Given the description of an element on the screen output the (x, y) to click on. 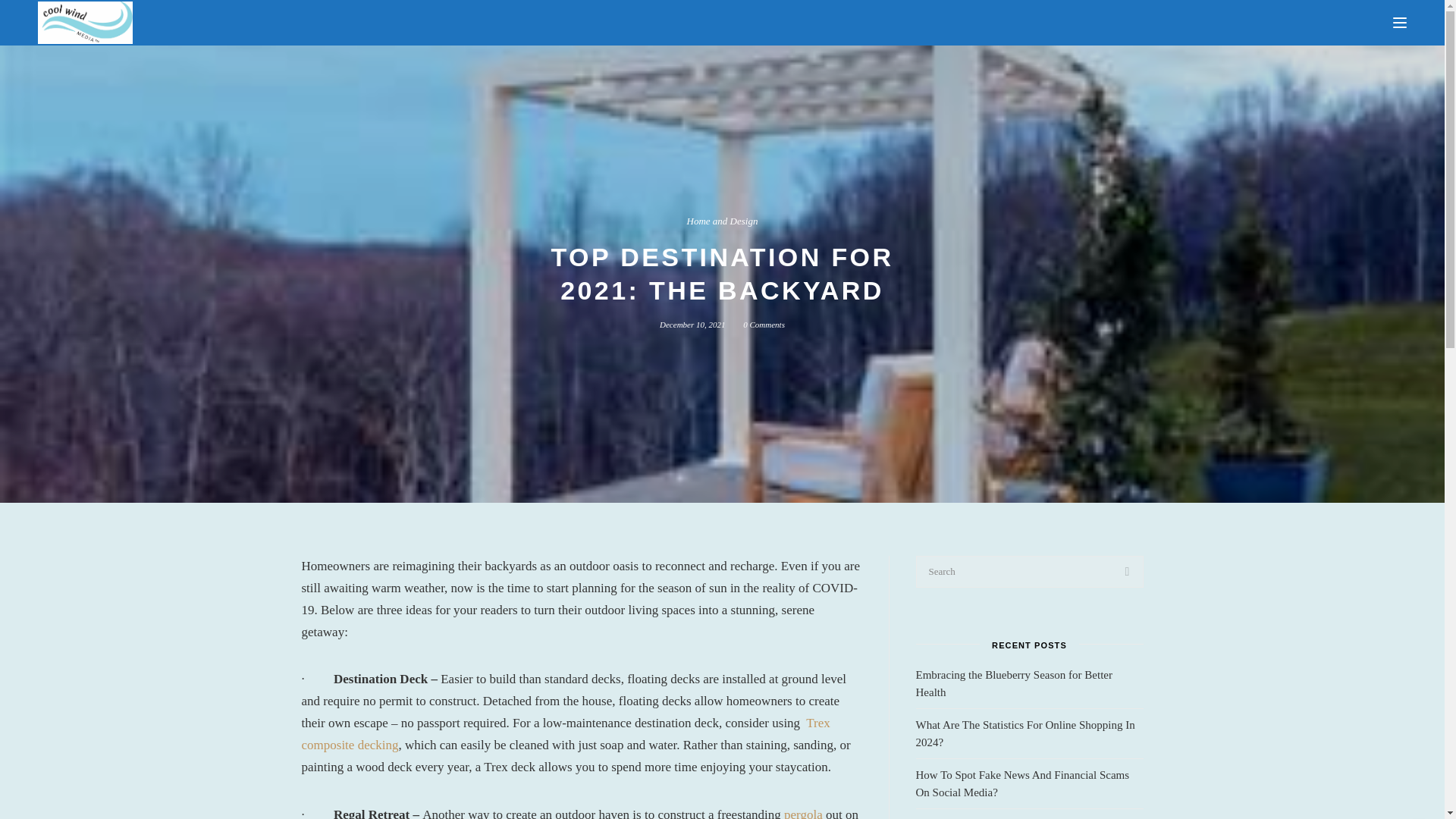
Toggle navigation (1399, 22)
0 Comments (763, 324)
Trex composite decking (565, 733)
pergola (803, 813)
Home and Design (722, 221)
